Given the description of an element on the screen output the (x, y) to click on. 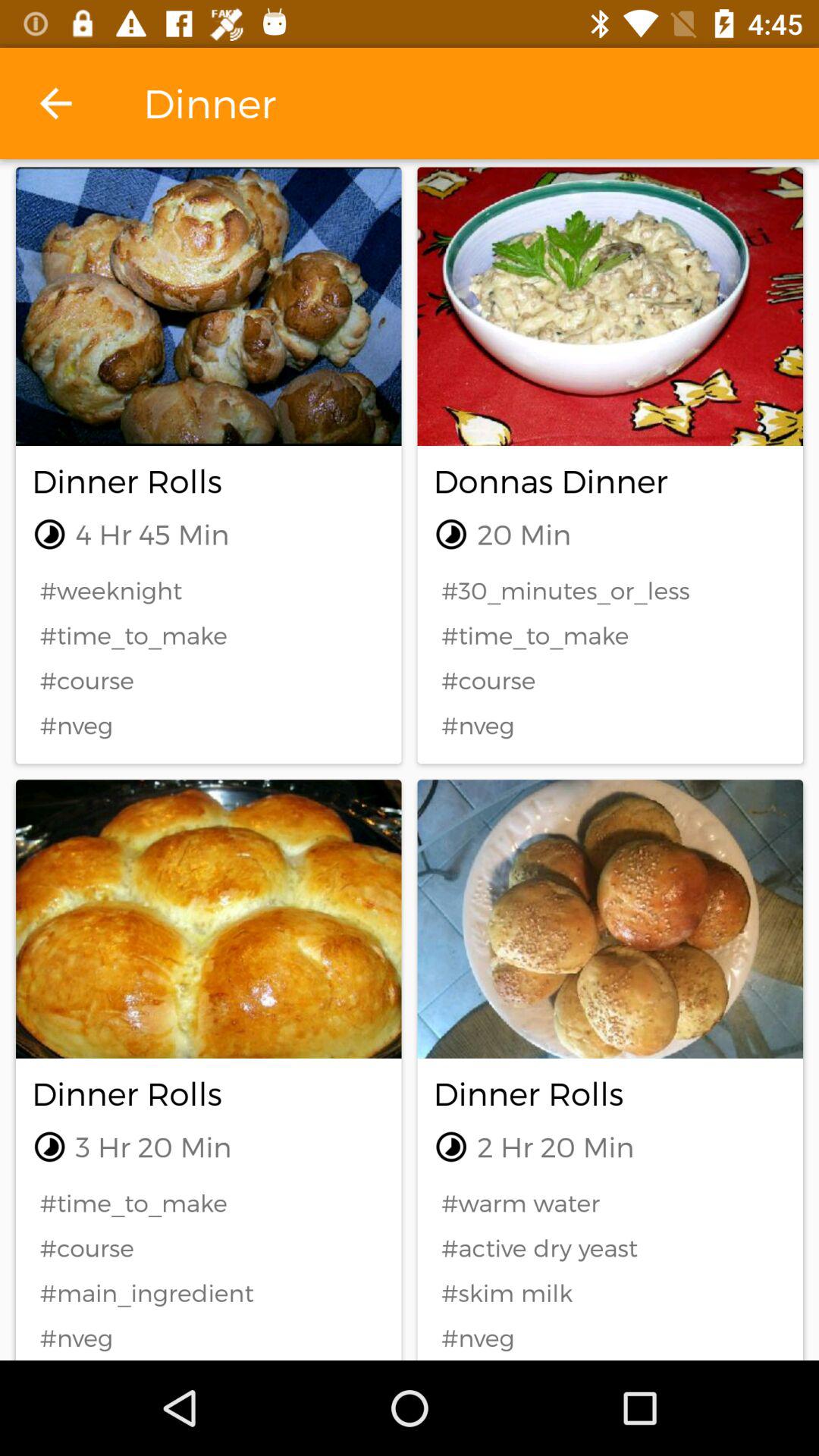
turn off icon to the left of the dinner (55, 103)
